Given the description of an element on the screen output the (x, y) to click on. 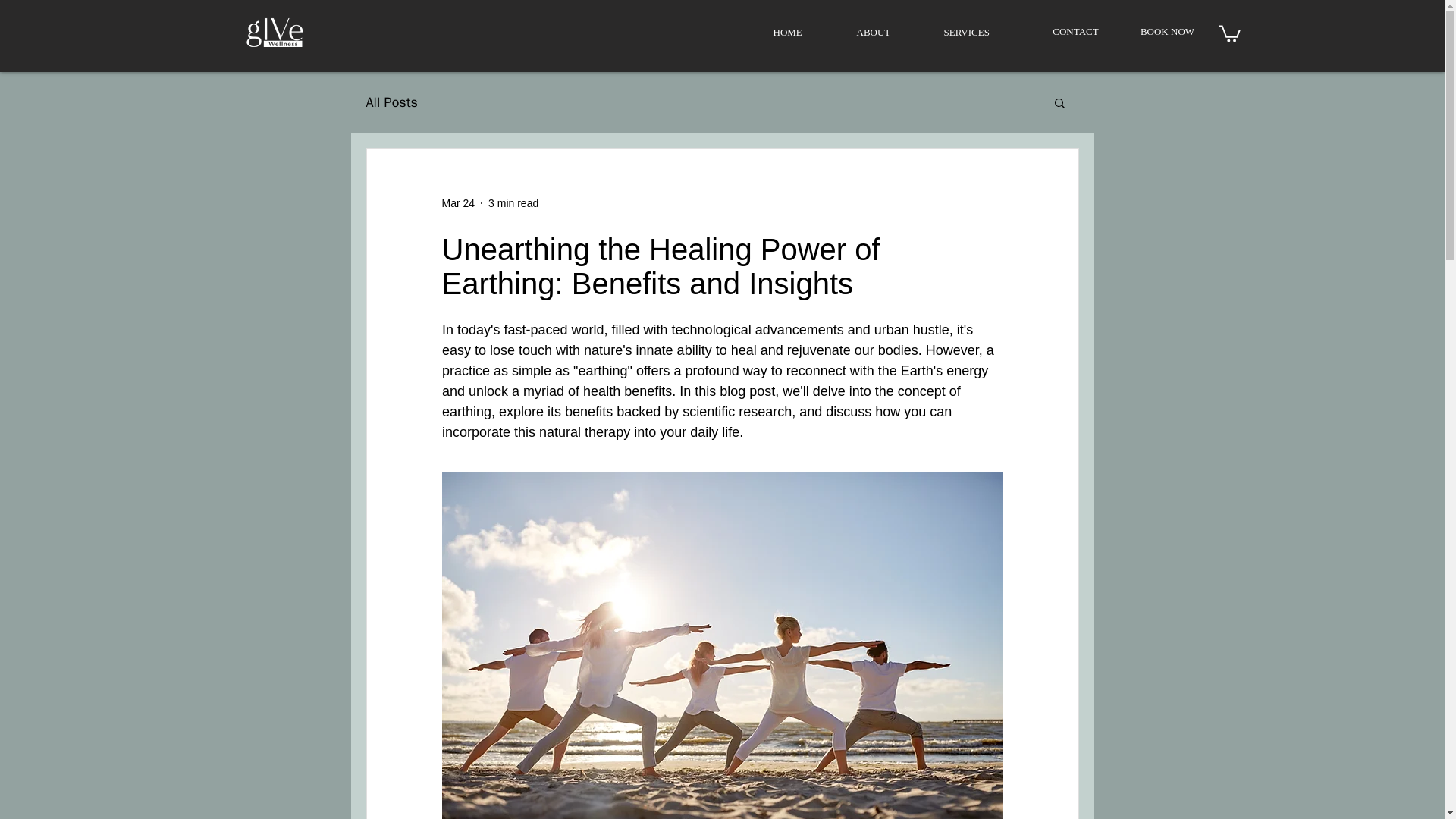
CONTACT (1075, 32)
All Posts (390, 102)
HOME (802, 32)
3 min read (512, 203)
Mar 24 (457, 203)
BOOK NOW (1167, 32)
